Given the description of an element on the screen output the (x, y) to click on. 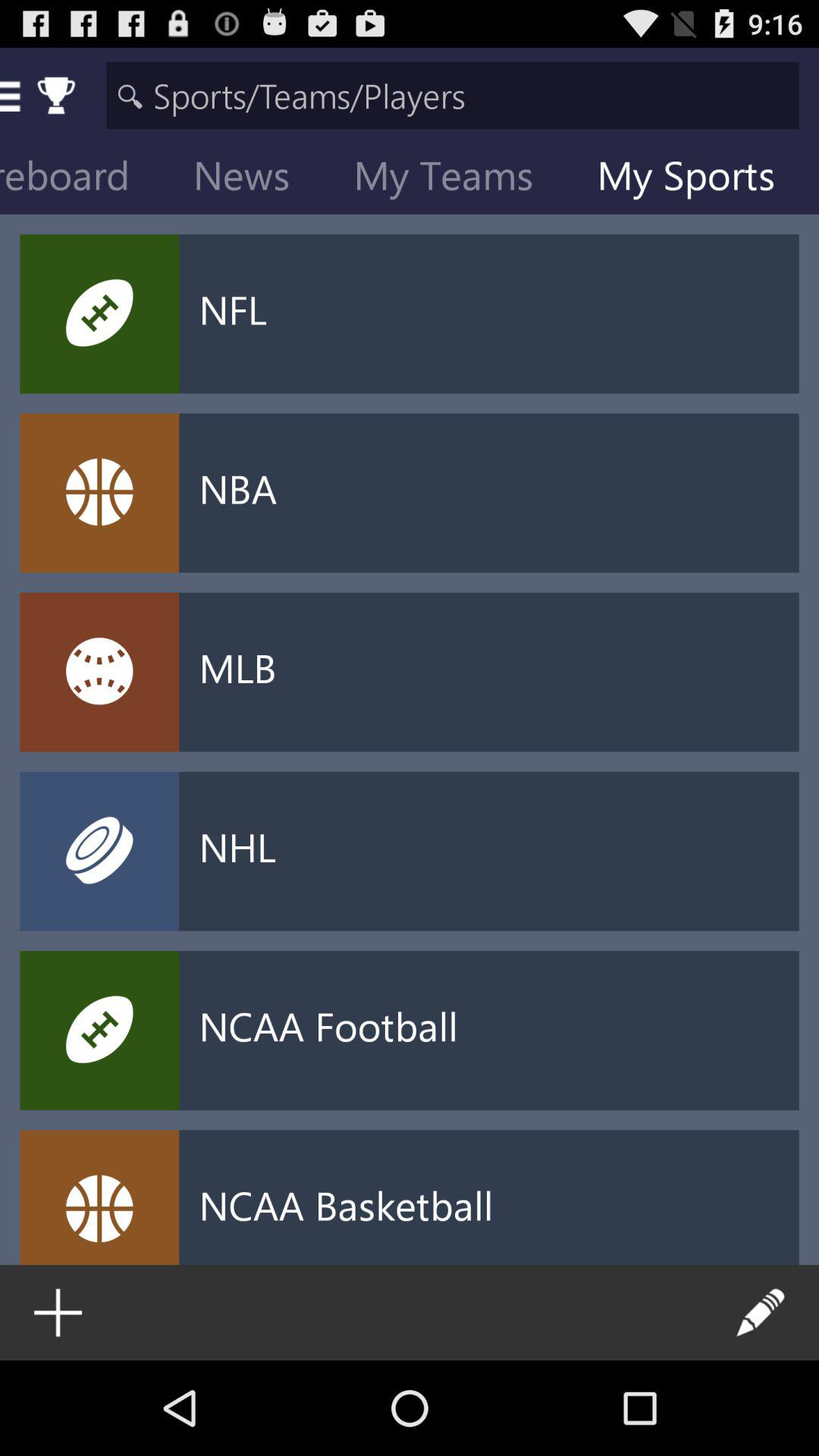
choose scoreboard icon (86, 178)
